Given the description of an element on the screen output the (x, y) to click on. 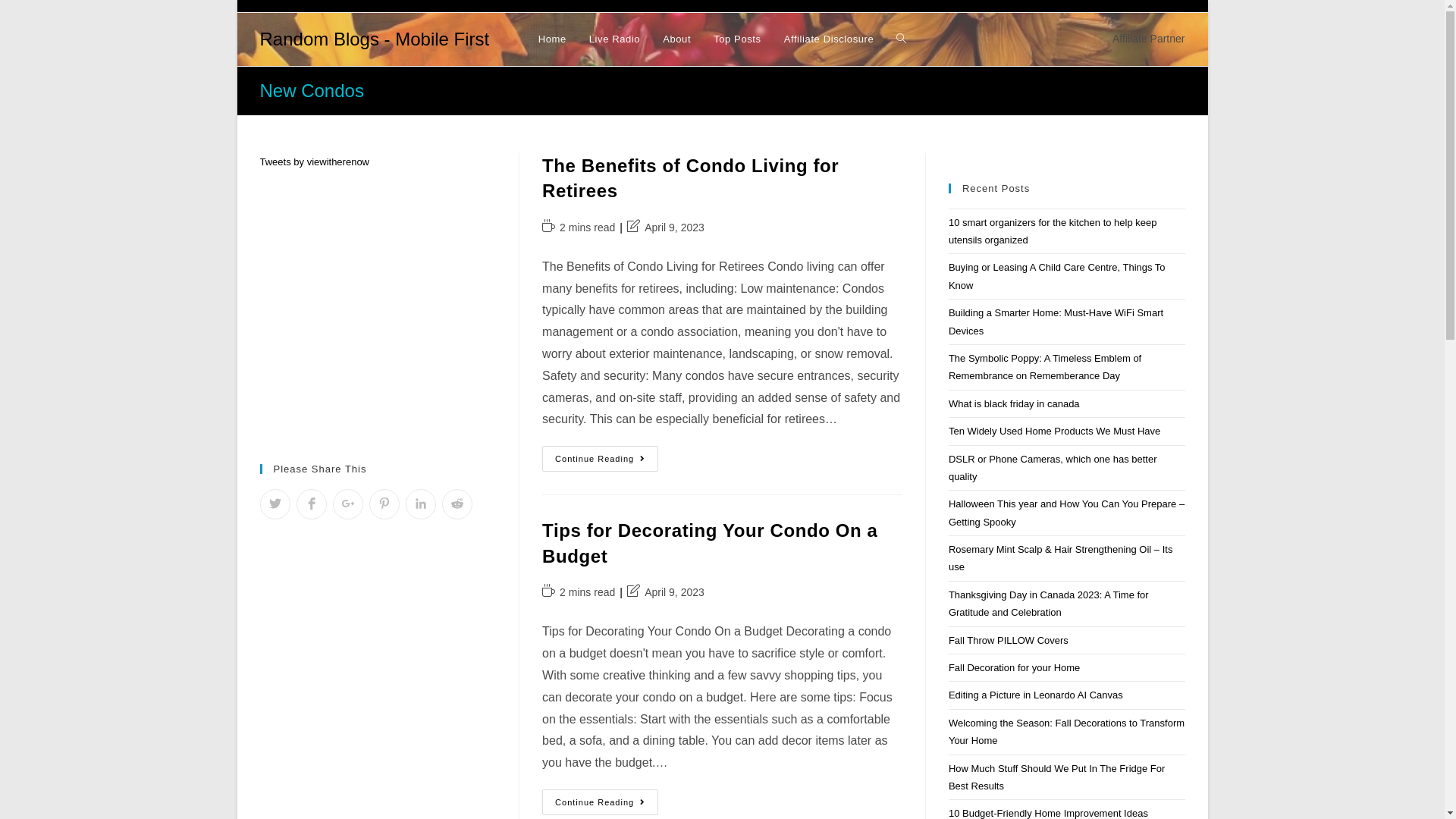
How Much Stuff Should We Put In The Fridge For Best Results Element type: text (1056, 776)
Continue Reading
The Benefits Of Condo Living For Retirees Element type: text (600, 458)
Tips for Decorating Your Condo On a Budget Element type: text (709, 543)
Share on Reddit Element type: hover (456, 504)
Share on Twitter Element type: hover (274, 504)
About Element type: text (676, 38)
Share on Pinterest Element type: hover (383, 504)
Building a Smarter Home: Must-Have WiFi Smart Devices Element type: text (1055, 321)
Editing a Picture in Leonardo AI Canvas Element type: text (1035, 694)
Affiliate Disclosure Element type: text (828, 38)
DSLR or Phone Cameras, which one has better quality Element type: text (1052, 467)
Share on LinkedIn Element type: hover (419, 504)
Buying or Leasing A Child Care Centre, Things To Know Element type: text (1056, 275)
The Benefits of Condo Living for Retirees Element type: text (690, 178)
Share on Google+ Element type: hover (347, 504)
Toggle website search Element type: text (900, 38)
Share on Facebook Element type: hover (310, 504)
What is black friday in canada Element type: text (1013, 403)
Fall Throw PILLOW Covers Element type: text (1008, 640)
Tweets by viewitherenow Element type: text (314, 161)
Live Radio Element type: text (614, 38)
Home Element type: text (552, 38)
Top Posts Element type: text (737, 38)
Fall Decoration for your Home Element type: text (1013, 667)
Random Blogs - Mobile First Element type: text (374, 38)
Continue Reading
Tips For Decorating Your Condo On A Budget Element type: text (600, 802)
Ten Widely Used Home Products We Must Have Element type: text (1054, 430)
